Given the description of an element on the screen output the (x, y) to click on. 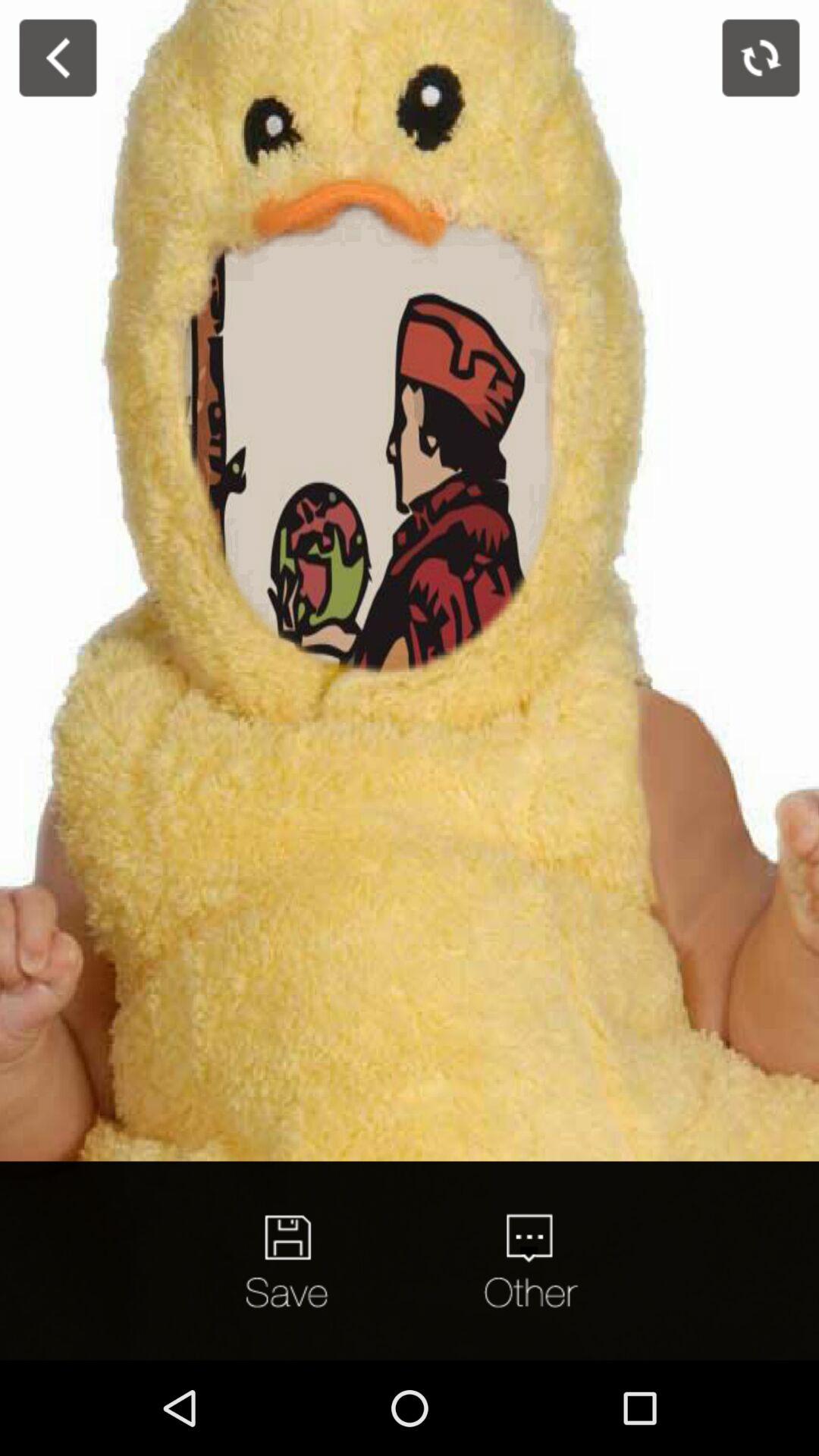
other (528, 1260)
